Given the description of an element on the screen output the (x, y) to click on. 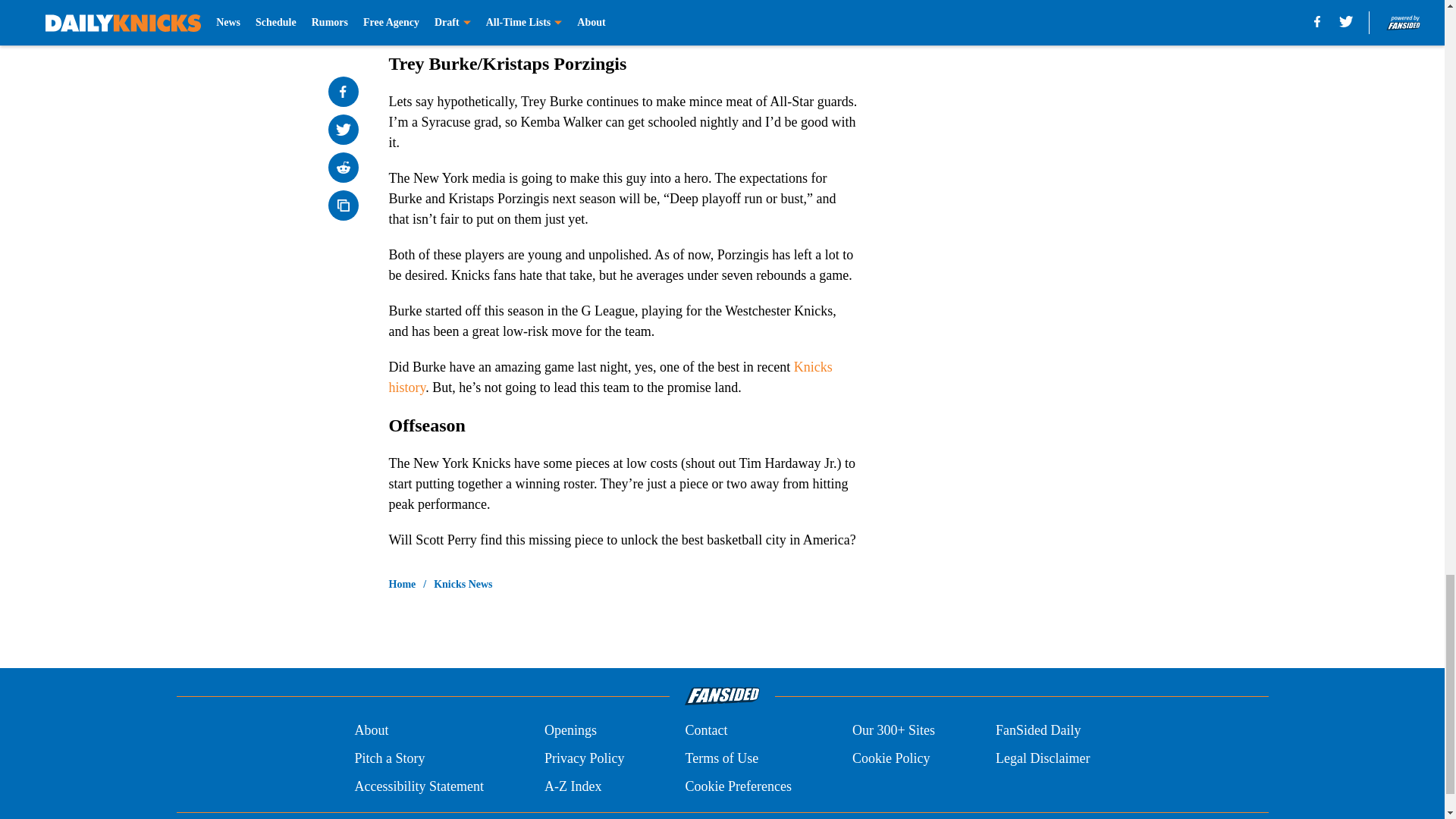
Terms of Use (721, 758)
Openings (570, 730)
Home (401, 584)
About (370, 730)
Legal Disclaimer (1042, 758)
Knicks News (462, 584)
FanSided Daily (1038, 730)
Cookie Policy (890, 758)
Knicks history (609, 376)
Contact (705, 730)
Privacy Policy (584, 758)
Pitch a Story (389, 758)
Accessibility Statement (418, 786)
